Given the description of an element on the screen output the (x, y) to click on. 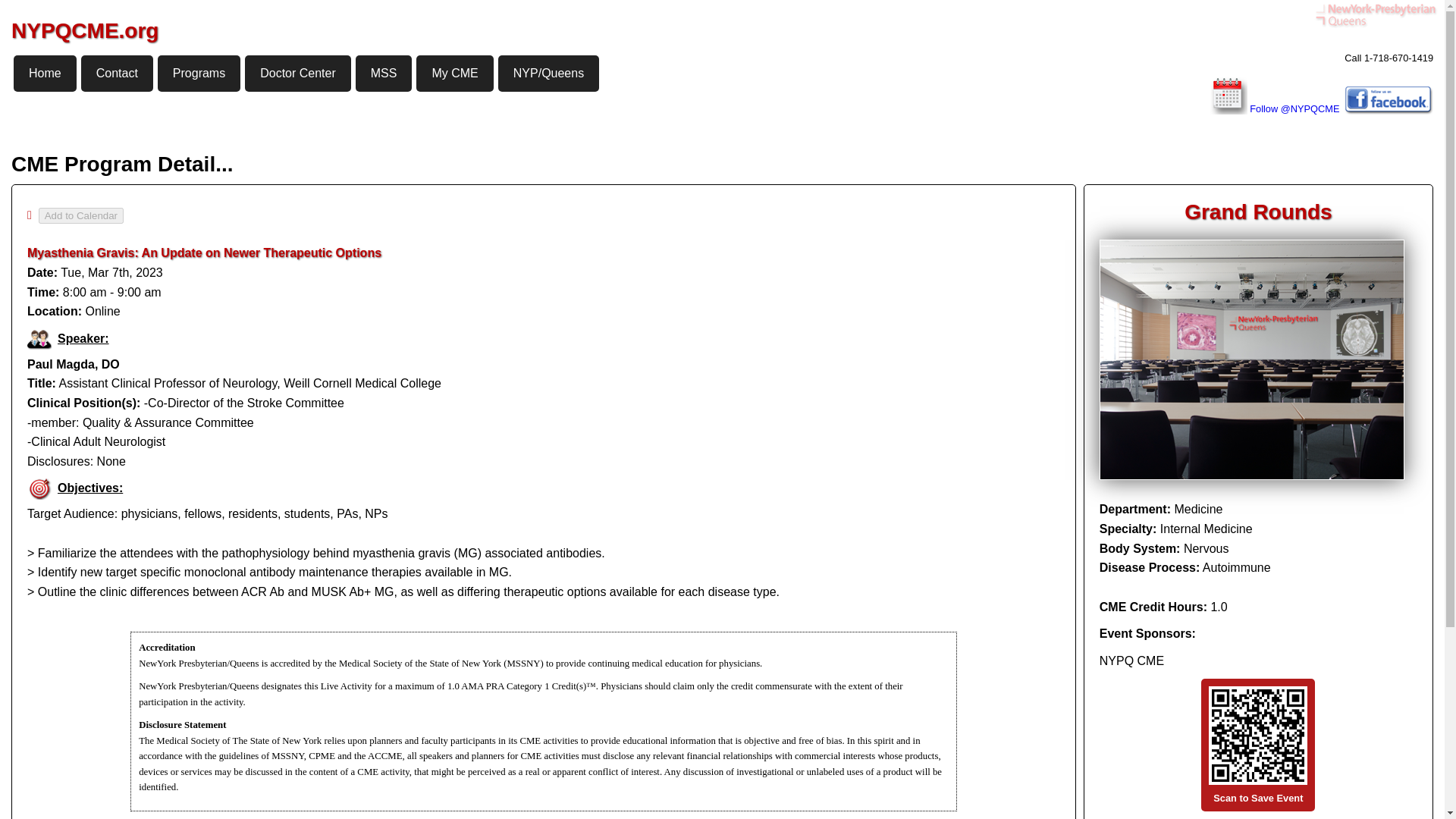
Contact (116, 73)
Home (45, 73)
Programs (198, 73)
MSS (383, 73)
Doctor Center (297, 73)
Add to Calendar (81, 215)
My CME (454, 73)
